Given the description of an element on the screen output the (x, y) to click on. 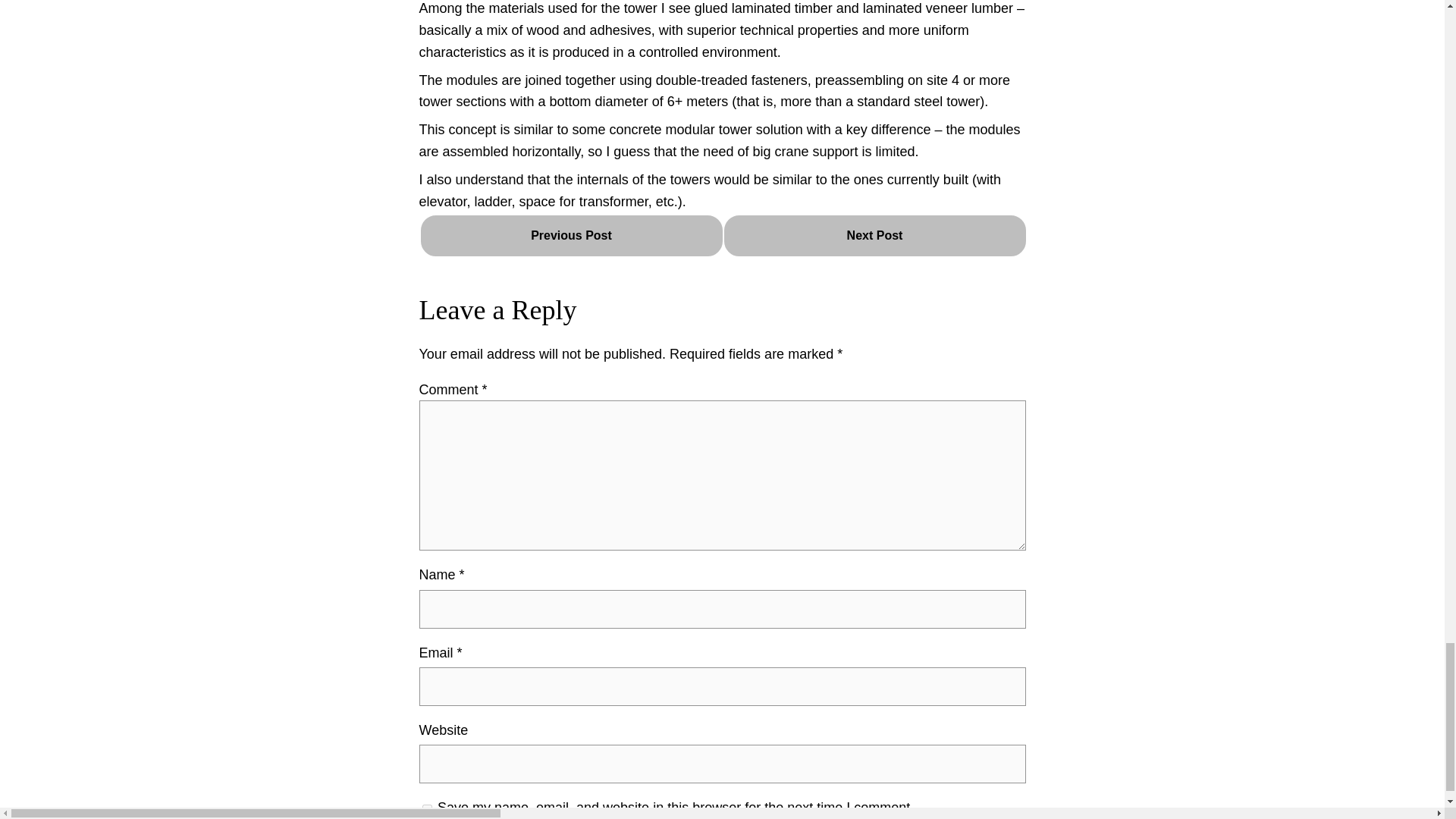
The importance of the geophysical survey for a Wind Farm (874, 235)
Printable 3D concrete wind turbine towers (571, 235)
Previous Post (571, 235)
Next Post (874, 235)
Next Post (874, 235)
Previous Post (571, 235)
